Given the description of an element on the screen output the (x, y) to click on. 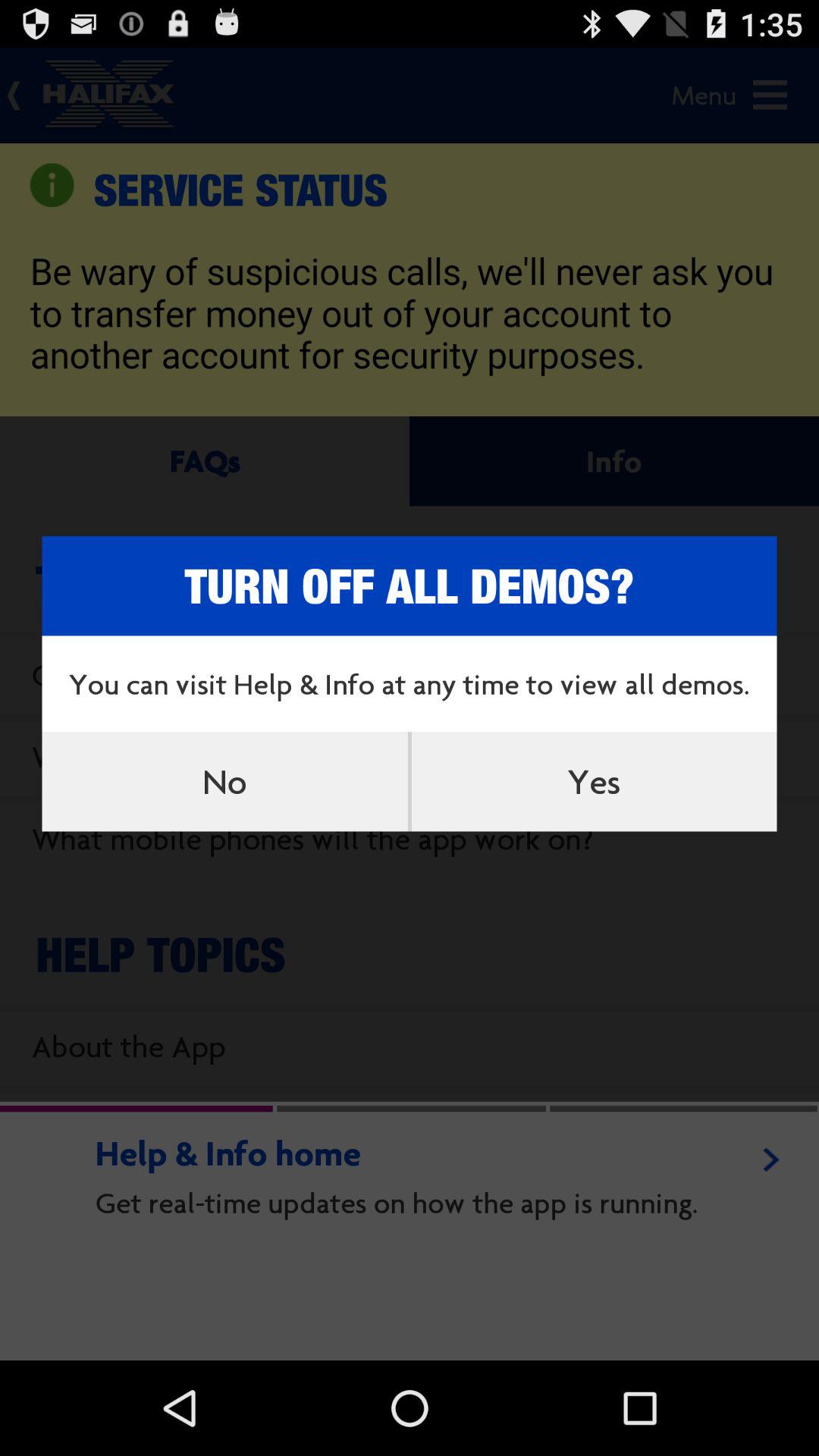
click the yes (593, 781)
